Given the description of an element on the screen output the (x, y) to click on. 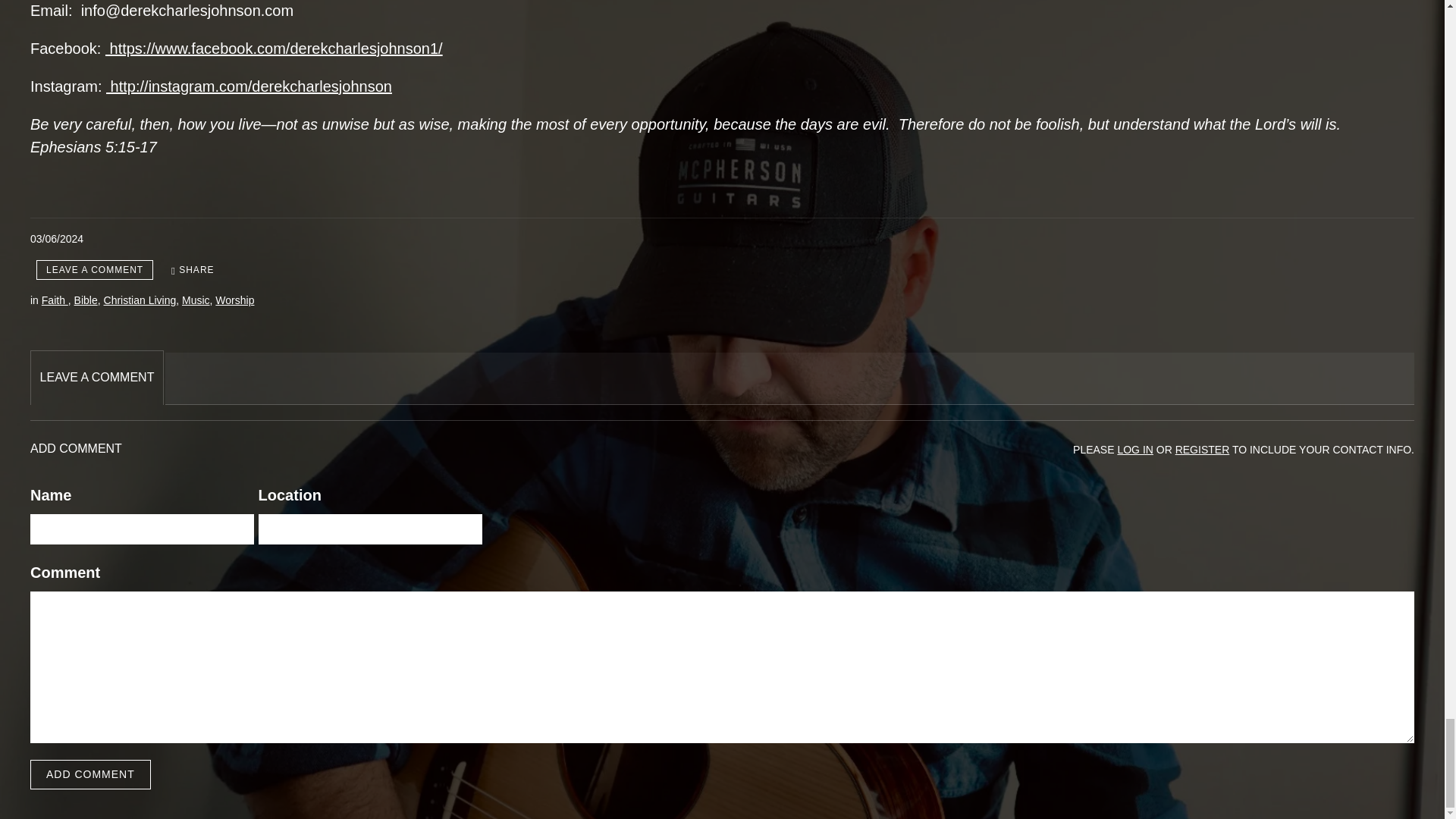
March 06, 2024 00:00 (56, 238)
SHARE (192, 270)
LEAVE A COMMENT (94, 270)
Faith (55, 300)
Share 10 Years Of Carry On (192, 270)
Leave a comment (94, 270)
